Given the description of an element on the screen output the (x, y) to click on. 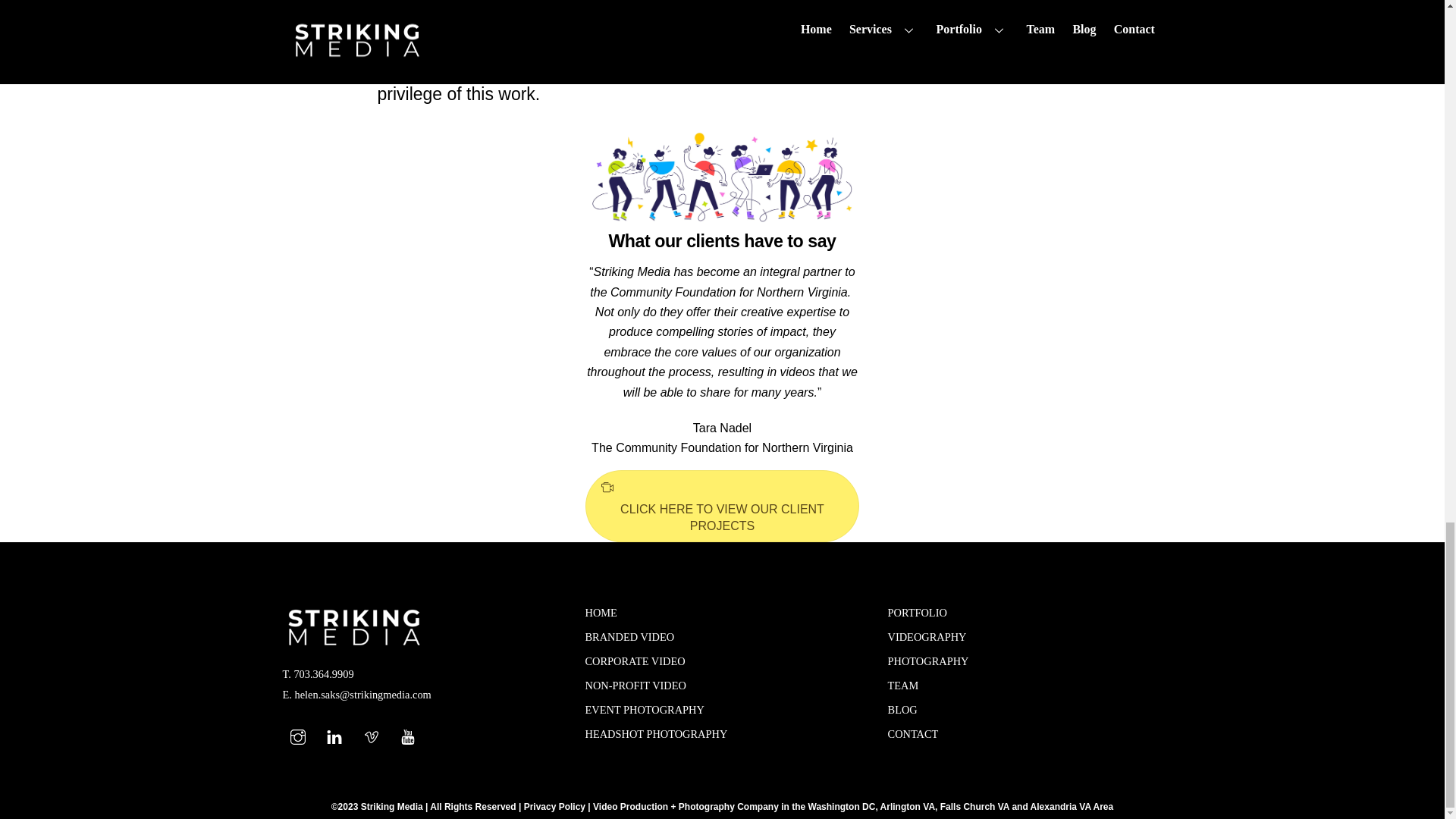
NON-PROFIT VIDEO (635, 685)
VIDEOGRAPHY (927, 636)
HOME (601, 612)
CORPORATE VIDEO (635, 661)
TEAM (903, 685)
703.364.9909 (323, 674)
BRANDED VIDEO (630, 636)
PORTFOLIO (917, 612)
BLOG (902, 709)
